Given the description of an element on the screen output the (x, y) to click on. 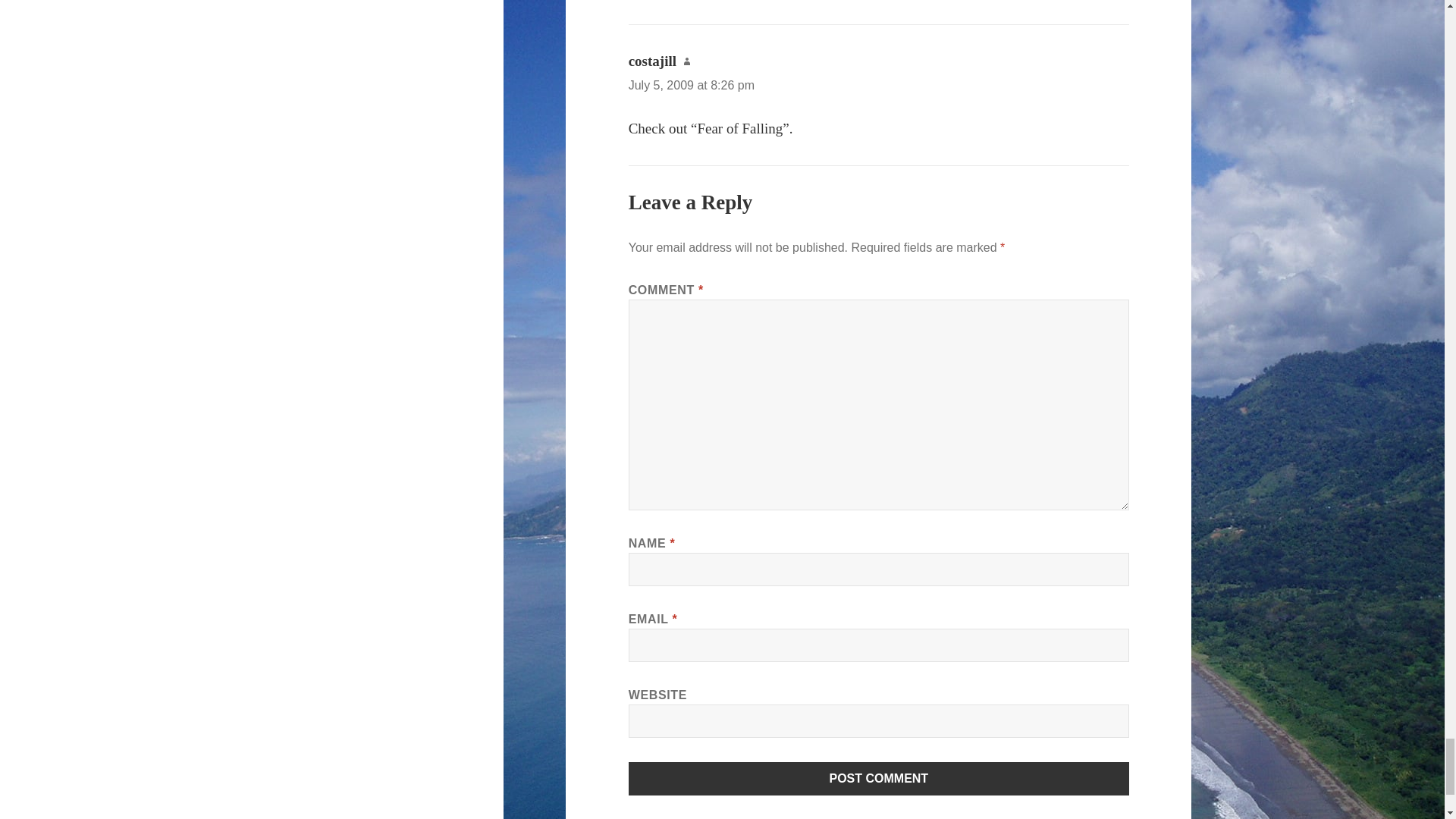
Post Comment (878, 778)
